Given the description of an element on the screen output the (x, y) to click on. 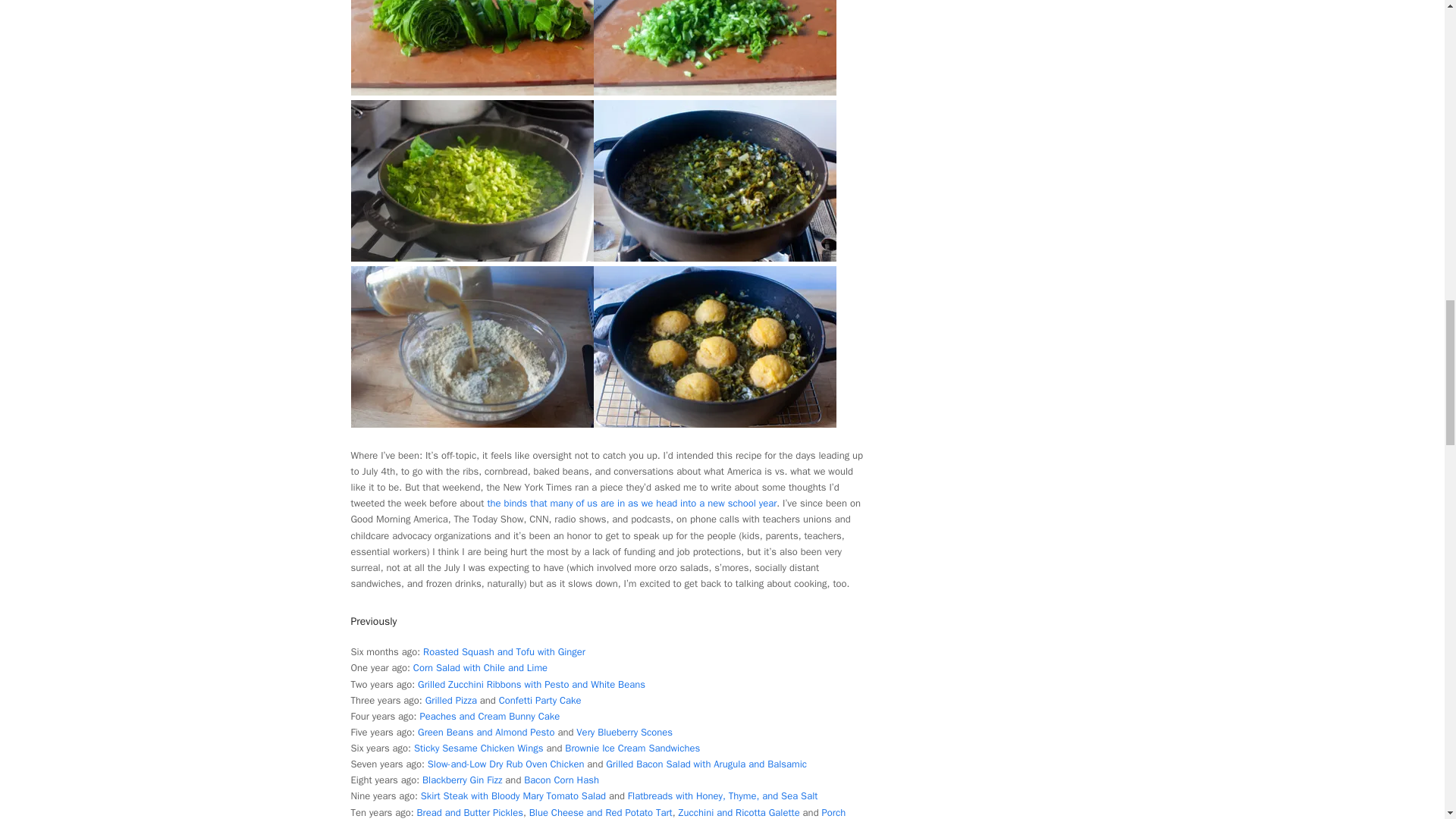
collard greens with cornmeal dumplings (713, 423)
begin the braise (471, 257)
mince the stems (713, 91)
making the cornmeal dumplings (471, 423)
finished greens (713, 257)
